Given the description of an element on the screen output the (x, y) to click on. 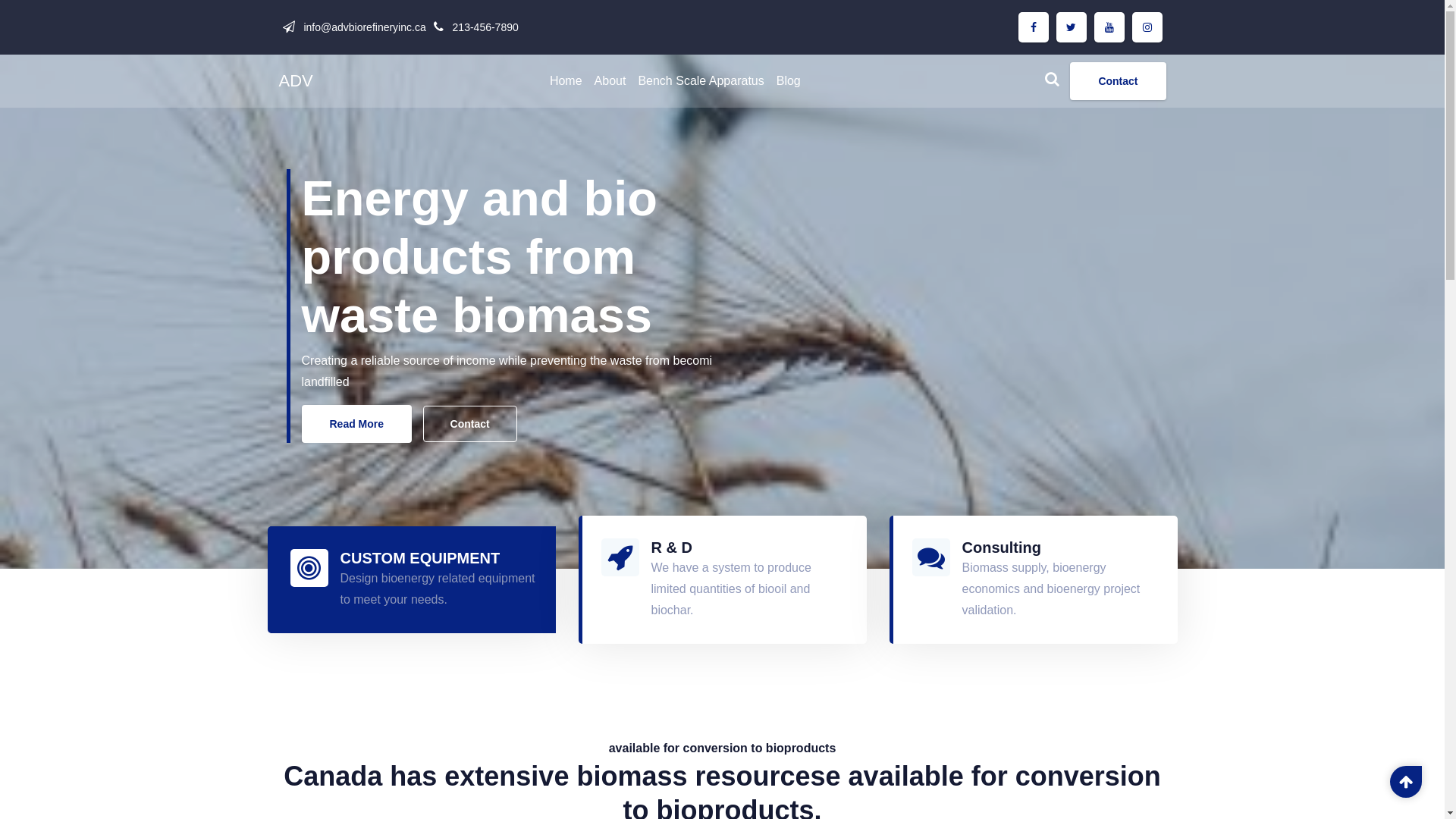
About Element type: text (610, 80)
Blog Element type: text (788, 80)
info@advbiorefineryinc.ca Element type: text (362, 27)
Home Element type: text (565, 80)
Bench Scale Apparatus Element type: text (700, 80)
Contact Element type: text (470, 423)
Read More Element type: text (356, 423)
213-456-7890 Element type: text (483, 27)
ADV Element type: text (296, 80)
Contact Element type: text (1117, 81)
